Given the description of an element on the screen output the (x, y) to click on. 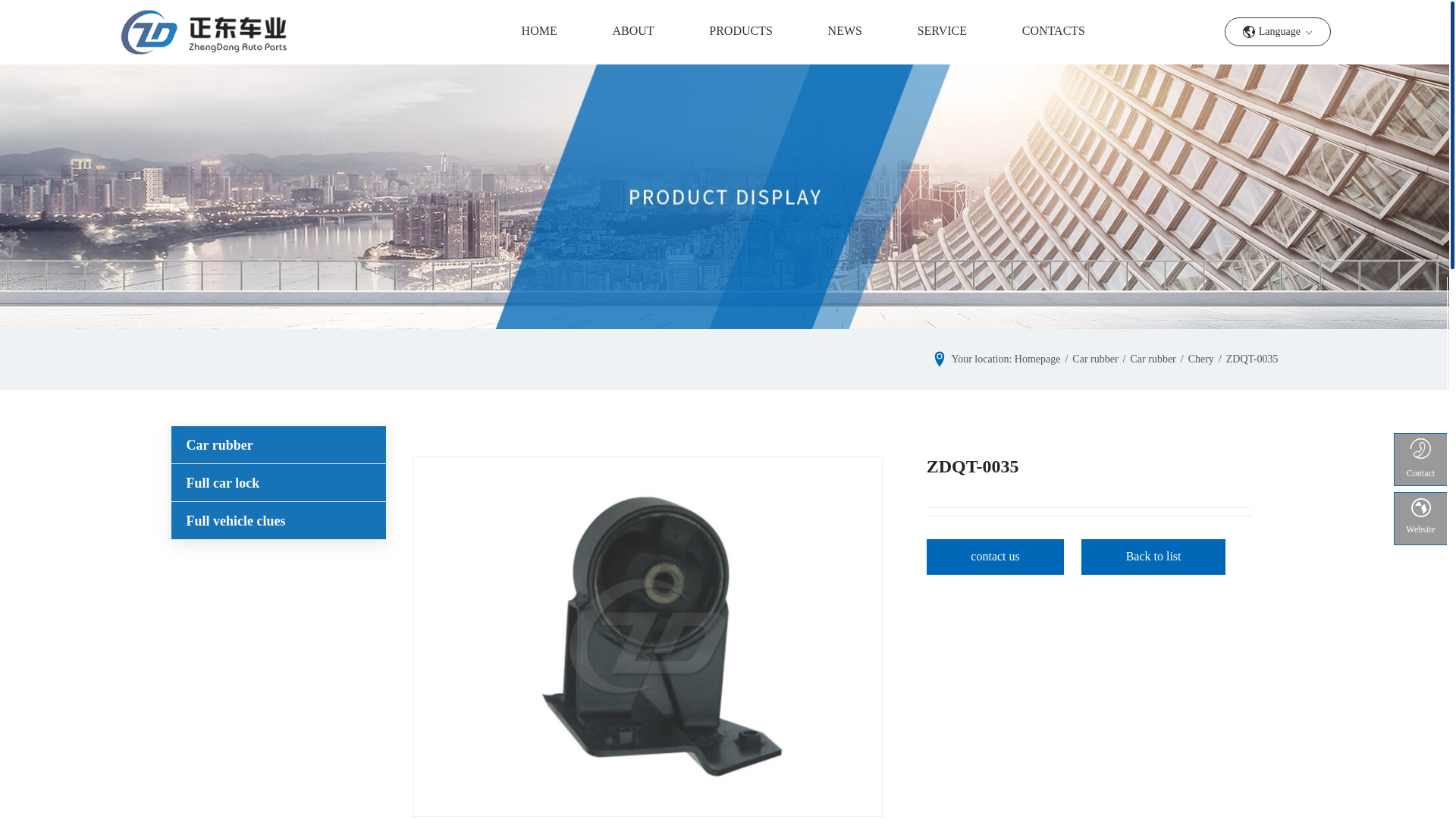
Back to list Element type: text (1153, 559)
Contact Element type: text (1420, 459)
Full vehicle clues Element type: text (235, 520)
HOME Element type: text (539, 30)
Car rubber Element type: text (1094, 358)
PRODUCTS Element type: text (740, 30)
Car rubber Element type: text (1152, 358)
Car rubber Element type: text (219, 444)
NEWS Element type: text (845, 30)
Chery Element type: text (1201, 358)
contact us Element type: text (995, 557)
CONTACTS Element type: text (1053, 30)
ABOUT Element type: text (632, 30)
contact us Element type: text (996, 559)
Full car lock Element type: text (223, 482)
Homepage Element type: text (1037, 358)
imgboxbg Element type: hover (724, 196)
SERVICE Element type: text (941, 30)
